Given the description of an element on the screen output the (x, y) to click on. 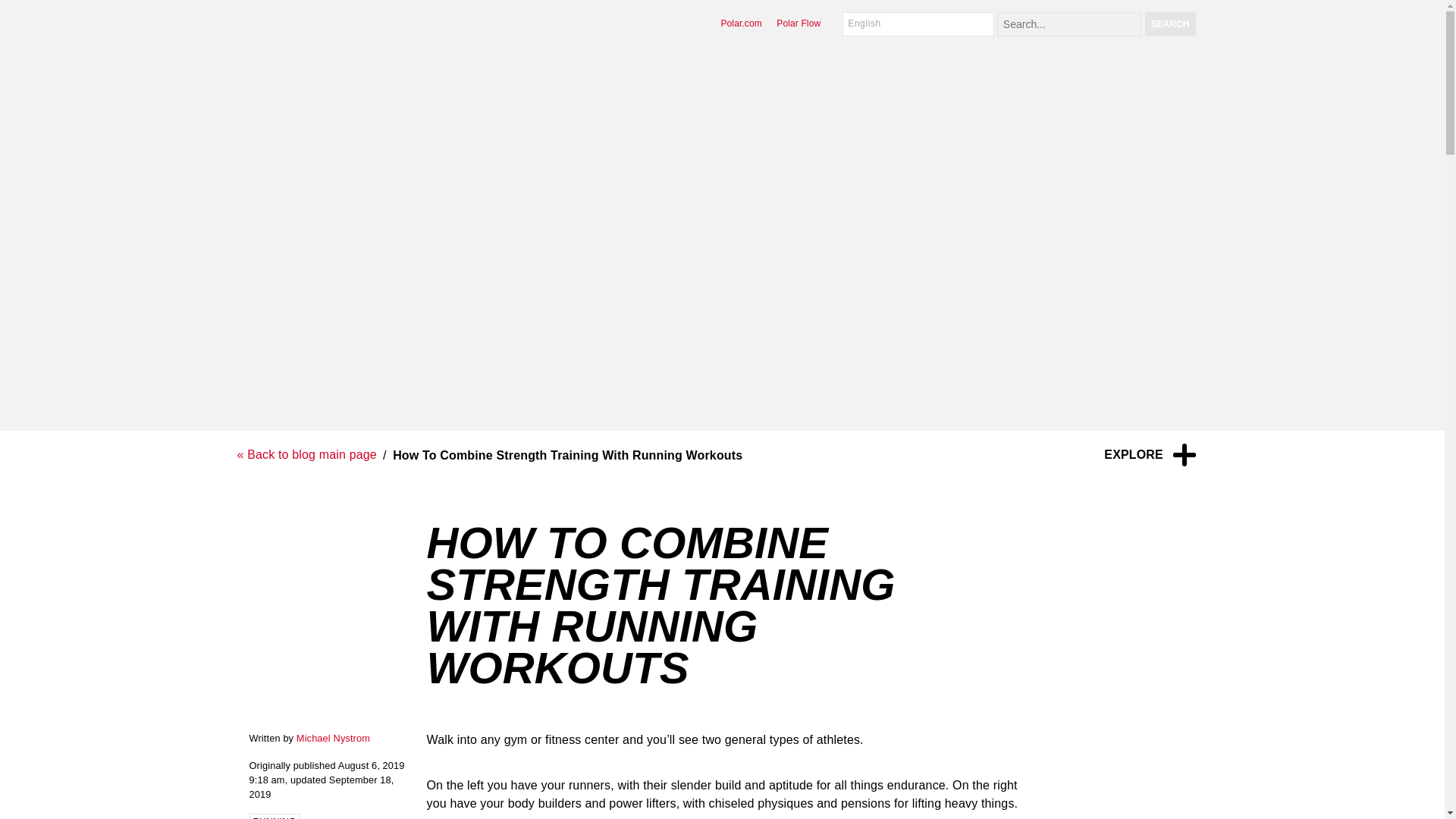
Search (1169, 24)
Polar.com (740, 23)
Polar Flow (798, 23)
RUNNING (273, 816)
Michael Nystrom (333, 737)
Search... (1069, 24)
View all posts in category Running (273, 816)
All posts written by Michael Nystrom (333, 737)
EXPLORE (1149, 454)
Search (1169, 24)
